Given the description of an element on the screen output the (x, y) to click on. 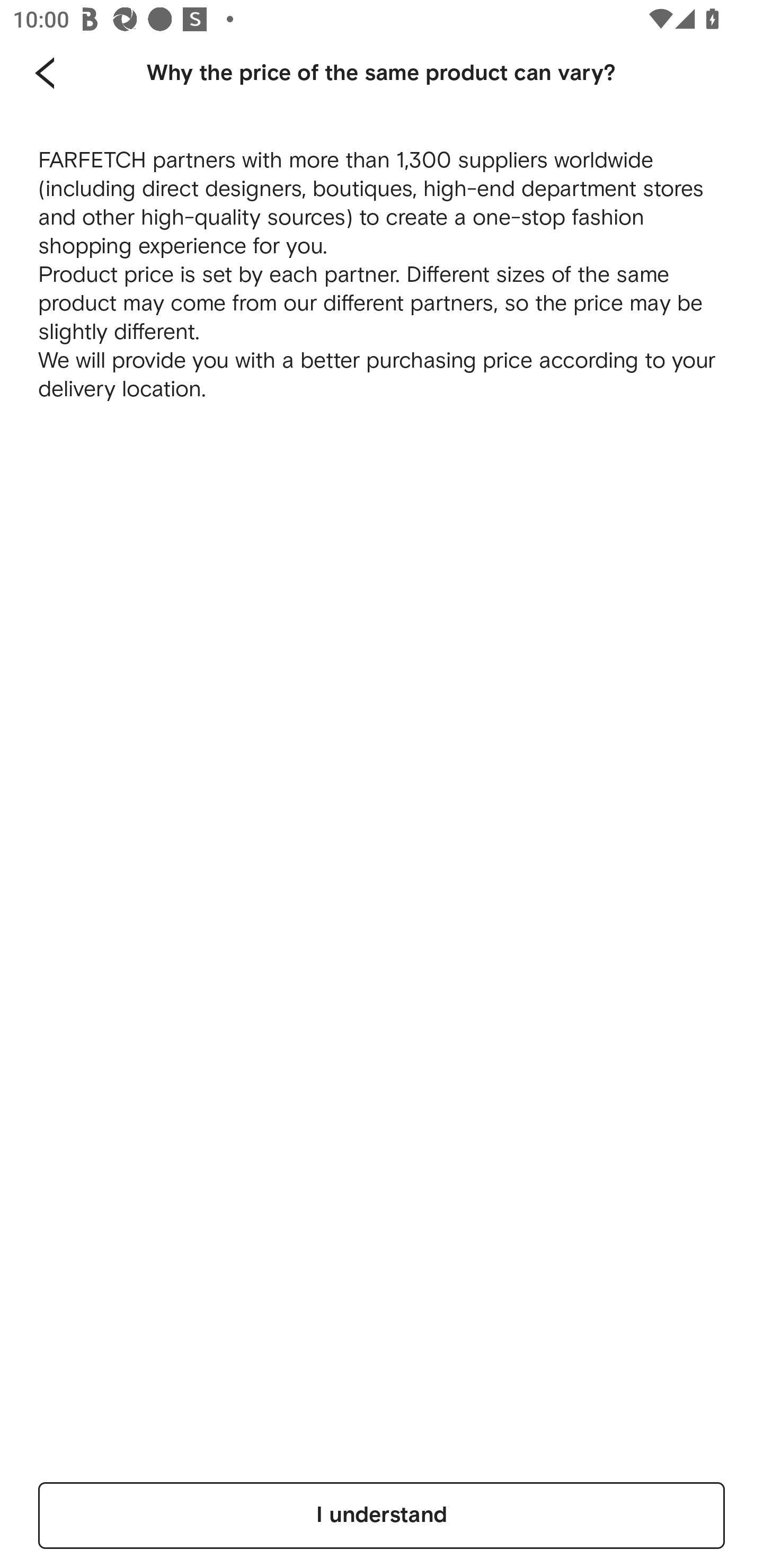
I understand (381, 1515)
